Given the description of an element on the screen output the (x, y) to click on. 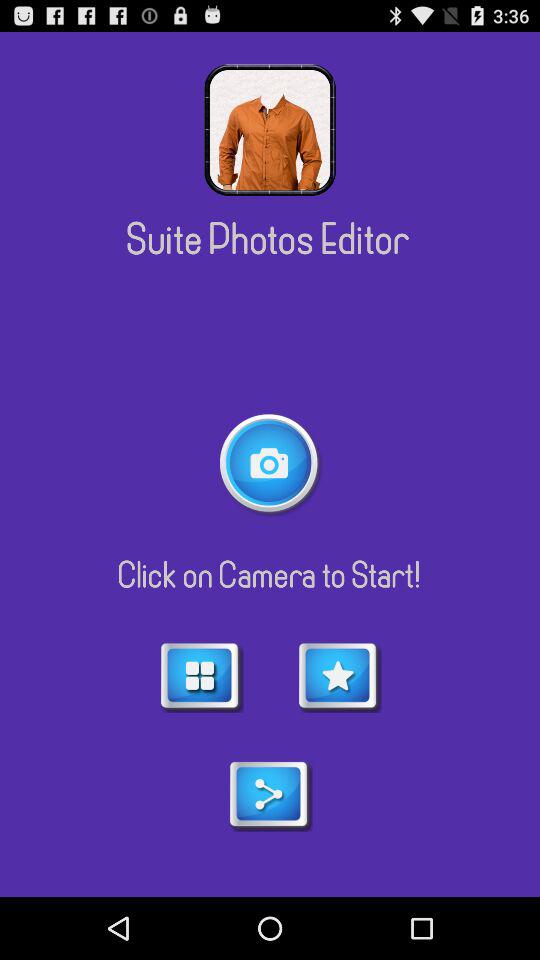
take a picture (269, 463)
